Given the description of an element on the screen output the (x, y) to click on. 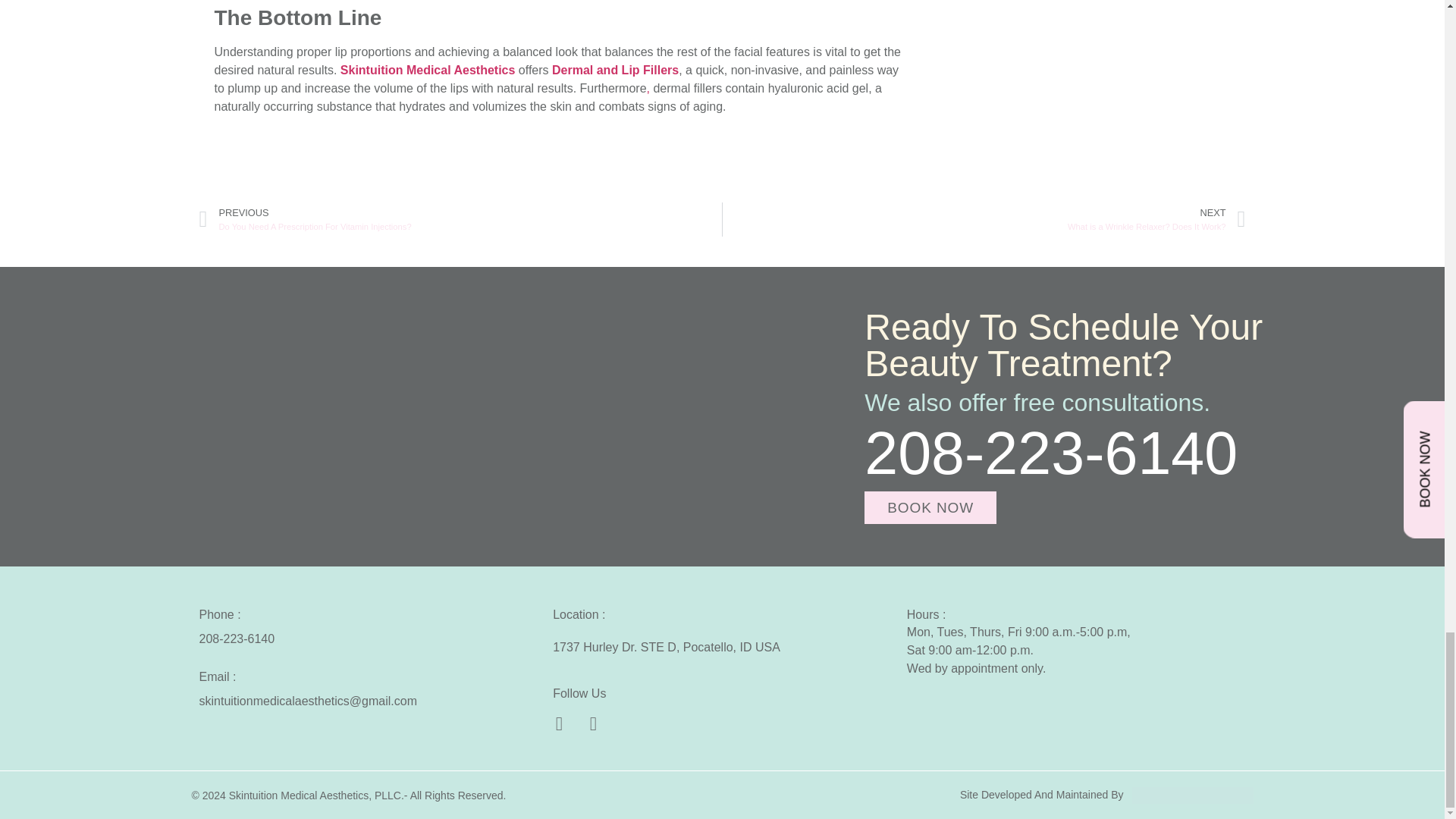
Skintuition Medical Aesthetics (427, 69)
, (647, 88)
Dermal and Lip Fillers (614, 69)
